Given the description of an element on the screen output the (x, y) to click on. 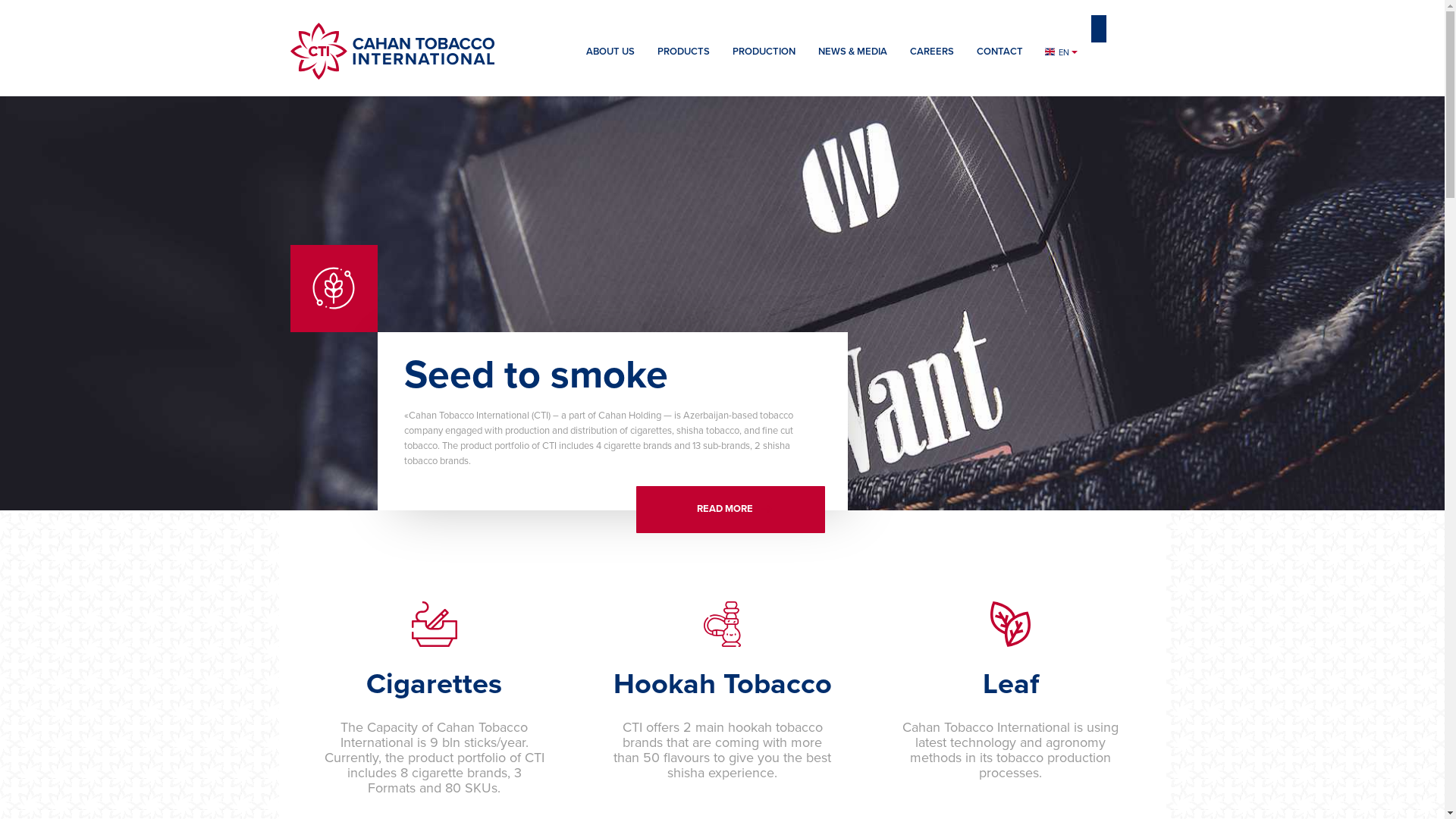
ABOUT US Element type: text (610, 58)
CAREERS Element type: text (930, 55)
CONTACT Element type: text (998, 58)
PRODUCTION Element type: text (763, 58)
NEWS & MEDIA Element type: text (852, 55)
EN Element type: text (1060, 52)
PRODUCTS Element type: text (683, 58)
READ MORE Element type: text (729, 509)
